Given the description of an element on the screen output the (x, y) to click on. 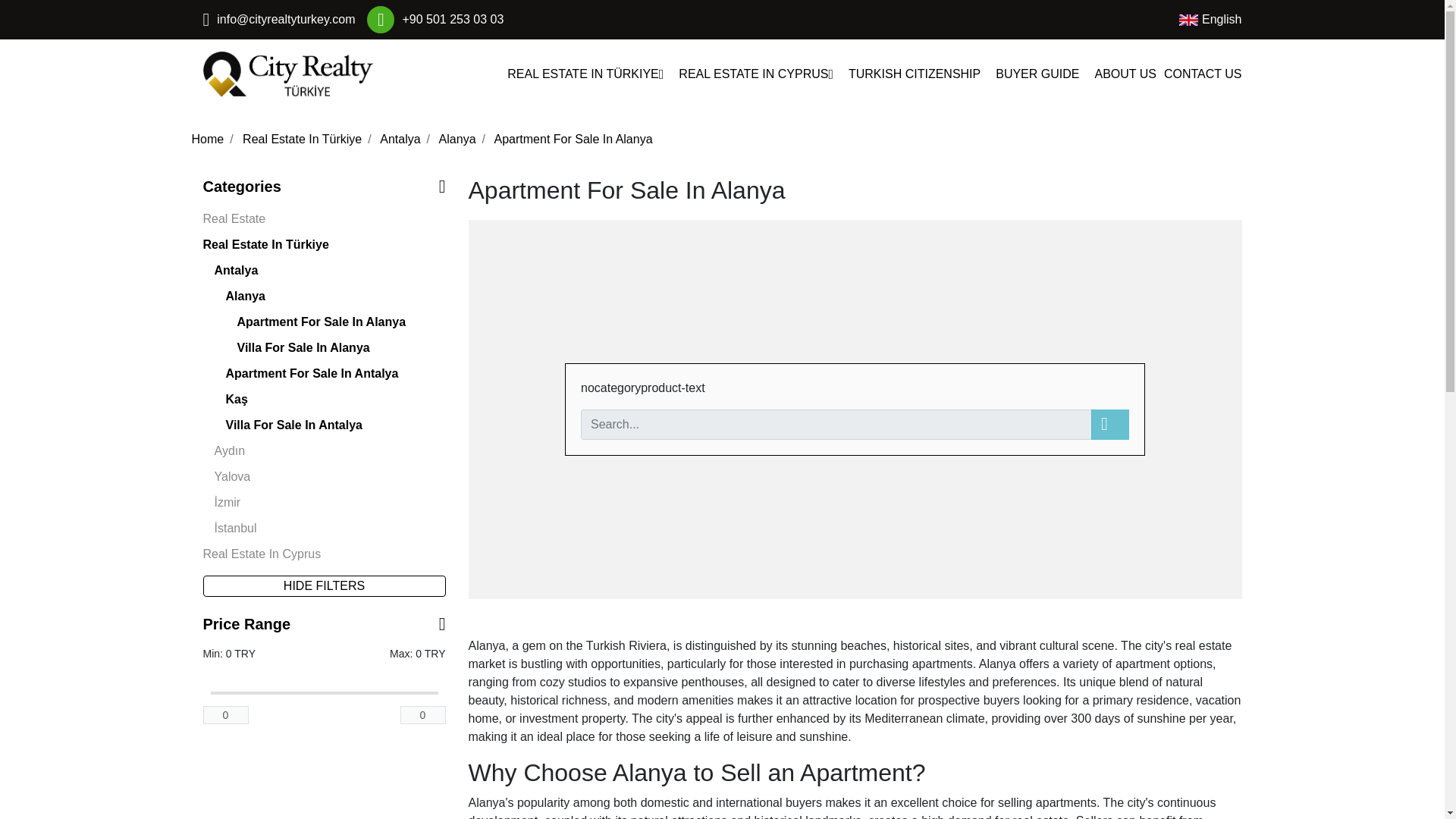
HIDE FILTERS (324, 586)
0 (225, 714)
0 (422, 714)
City Realty Turkey (287, 74)
